Given the description of an element on the screen output the (x, y) to click on. 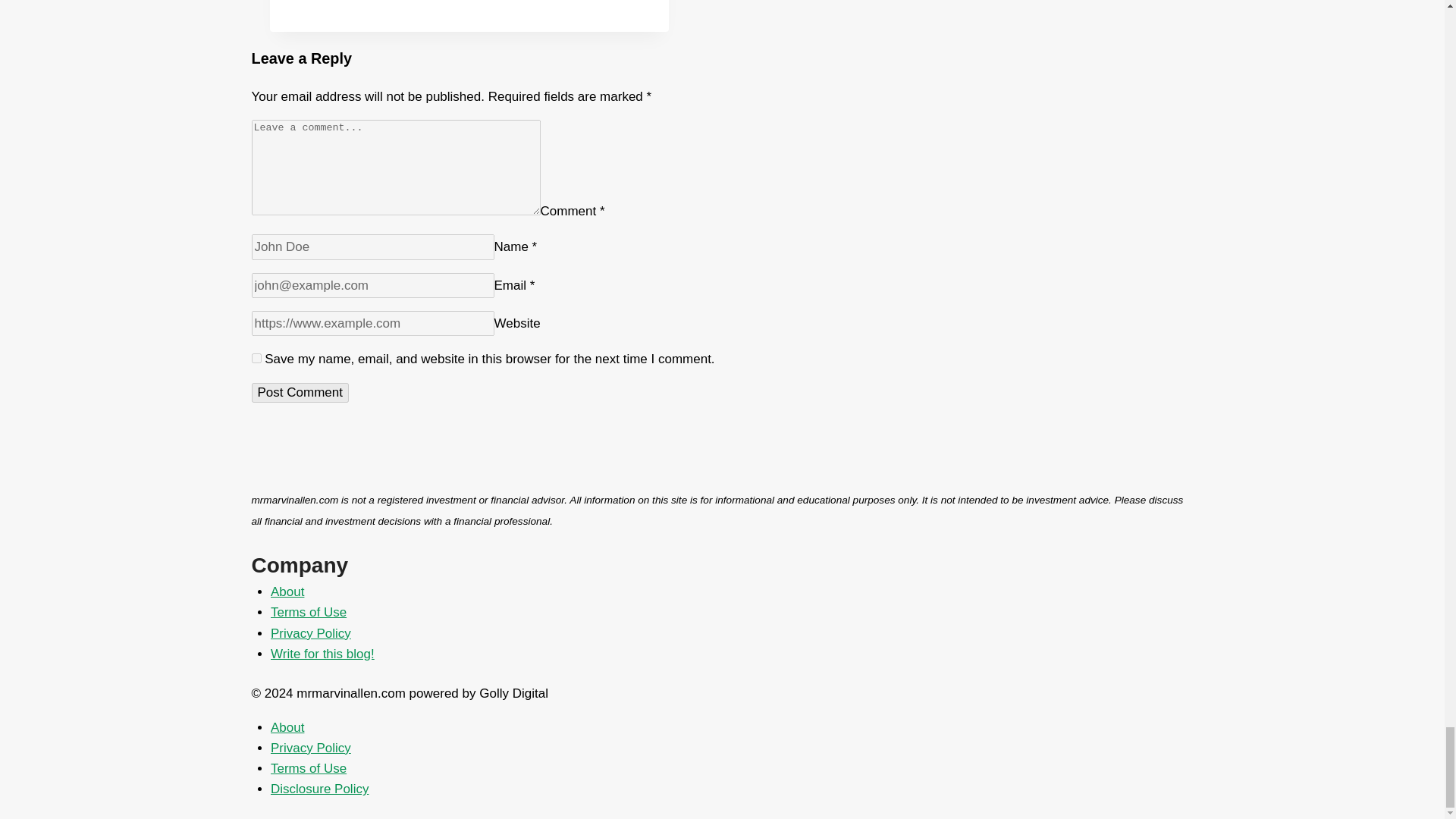
Post Comment (300, 392)
yes (256, 357)
